Given the description of an element on the screen output the (x, y) to click on. 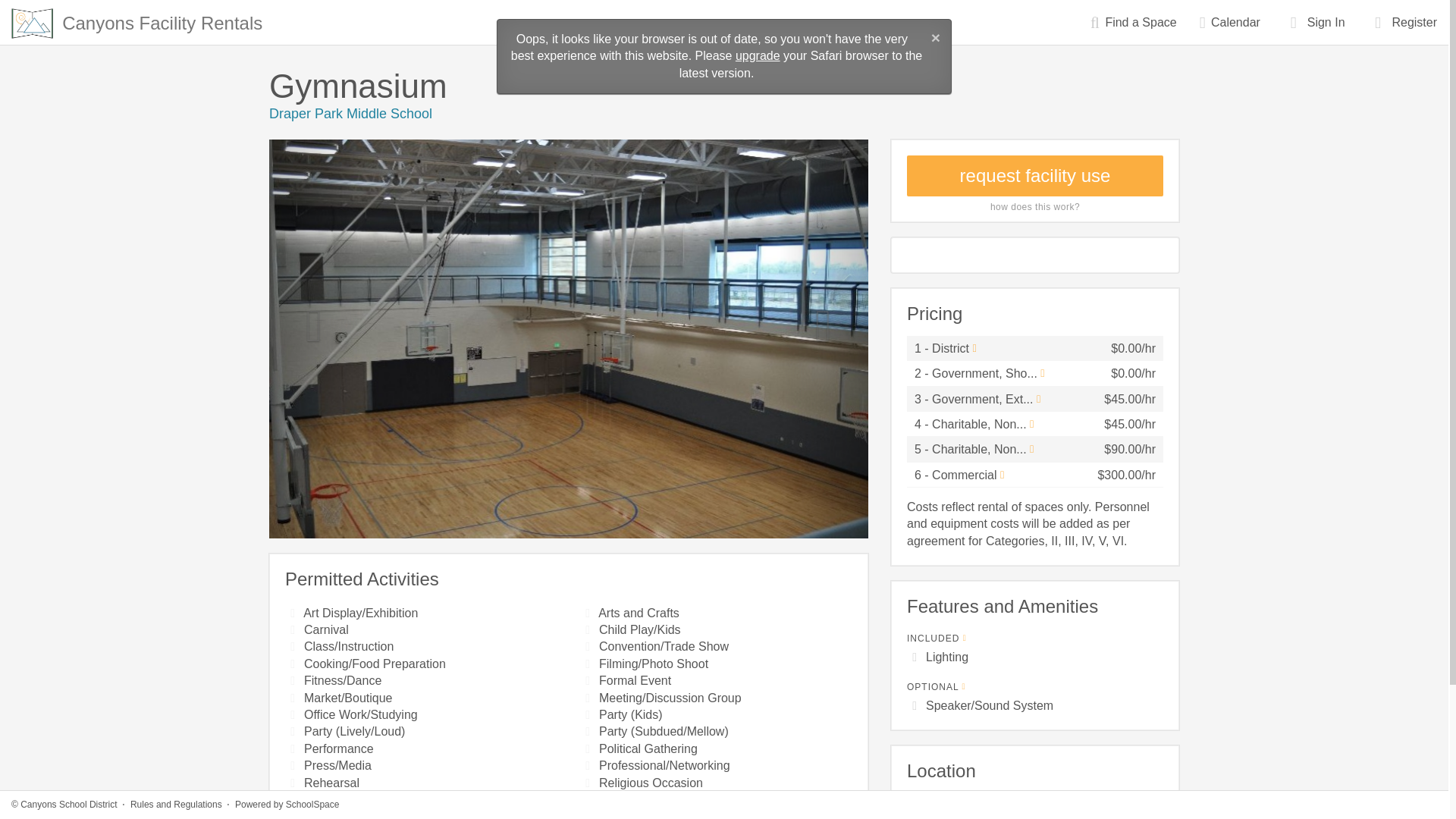
Draper Park Middle School (350, 113)
upgrade (757, 55)
request facility use (1035, 175)
Canyons School District (68, 804)
Sign In (1313, 22)
Find a Space (1133, 22)
Canyons Facility Rentals (136, 18)
how does this work? (1035, 206)
SchoolSpace (312, 804)
Rules and Regulations (176, 804)
Calendar (1229, 22)
13133 S 1300 East, Draper (980, 800)
